Given the description of an element on the screen output the (x, y) to click on. 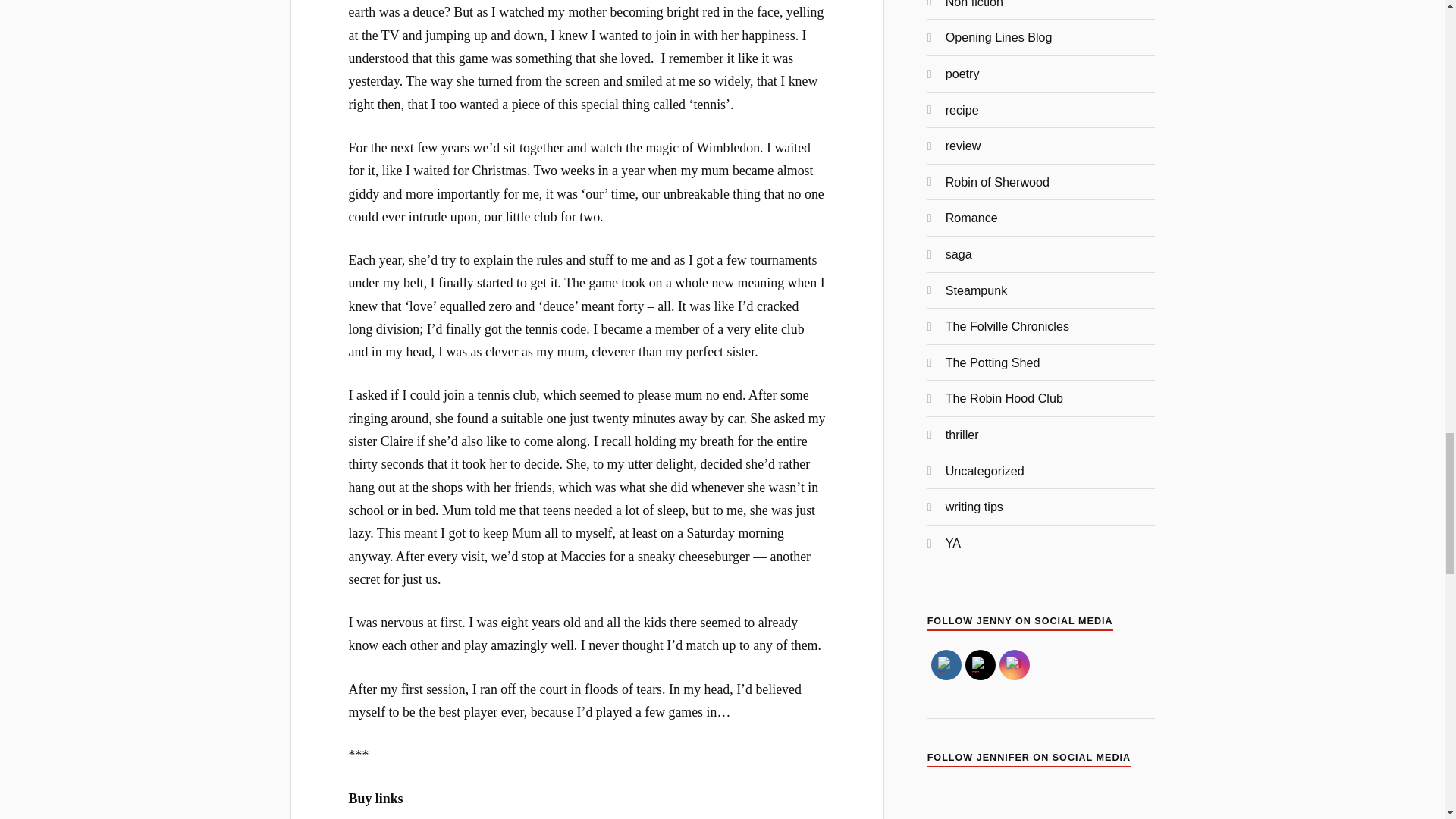
Instagram (1014, 664)
Facebook (946, 664)
Twitter (980, 664)
